Given the description of an element on the screen output the (x, y) to click on. 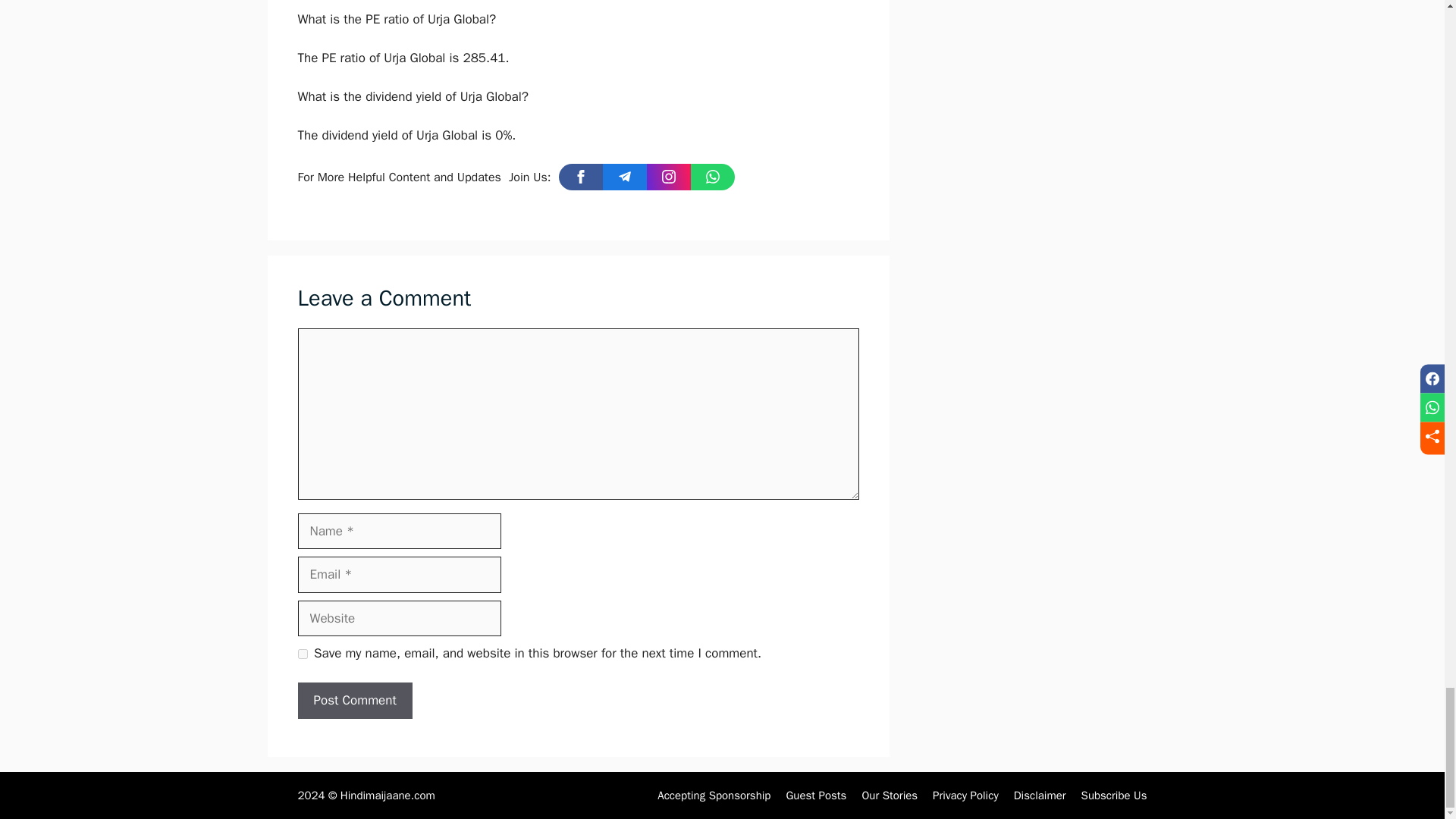
Post Comment (354, 700)
yes (302, 654)
